Given the description of an element on the screen output the (x, y) to click on. 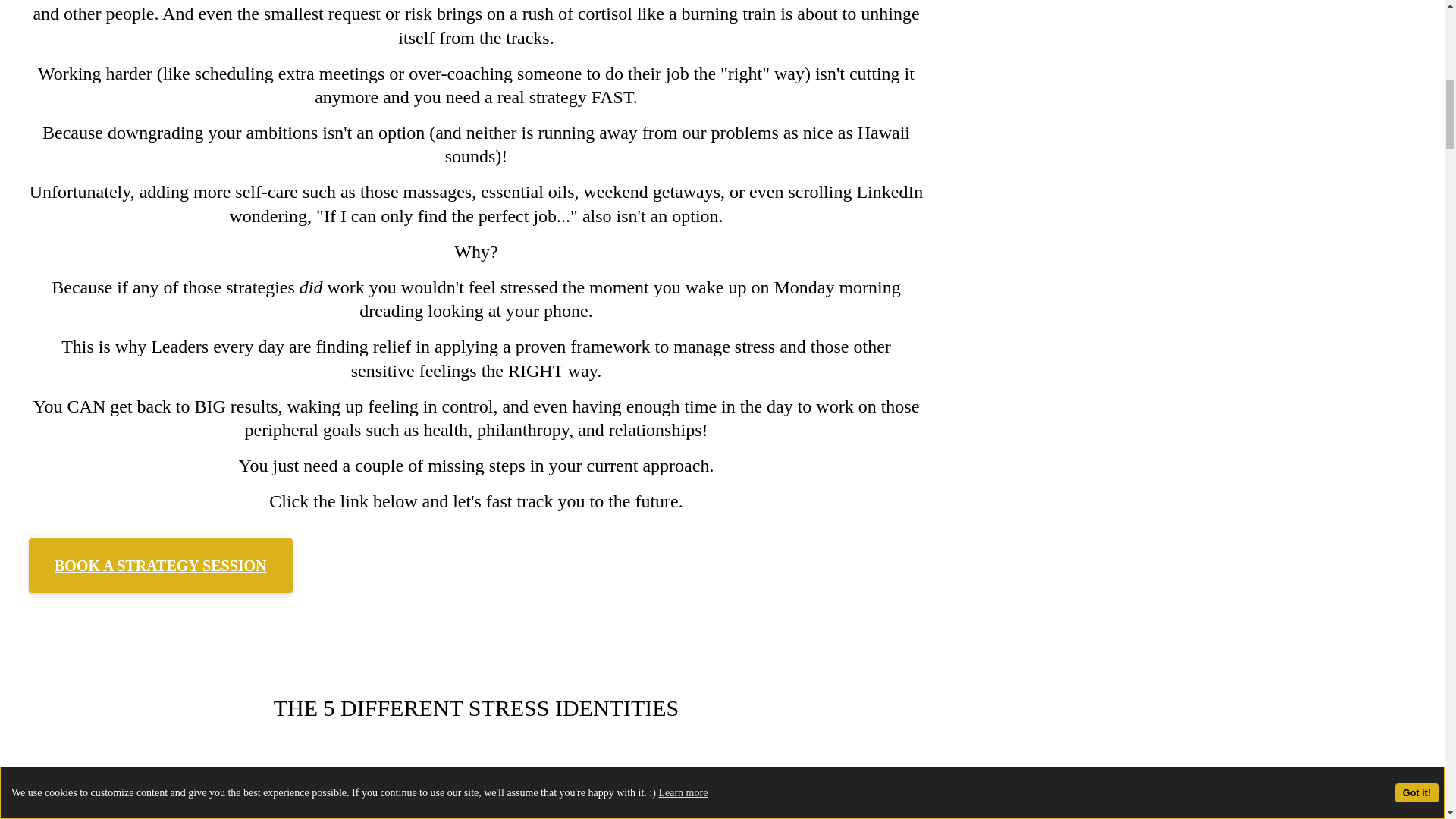
BOOK A STRATEGY SESSION (160, 565)
